Given the description of an element on the screen output the (x, y) to click on. 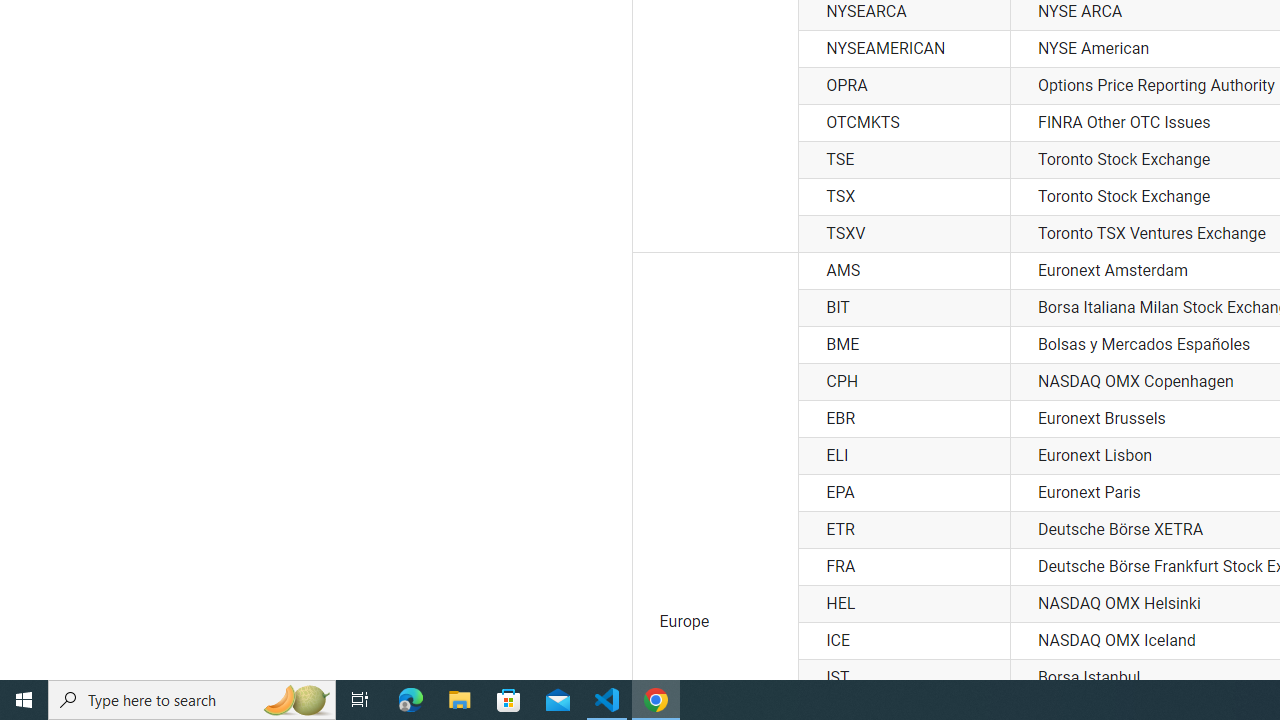
ICE (904, 641)
EPA (904, 492)
TSXV (904, 233)
